Given the description of an element on the screen output the (x, y) to click on. 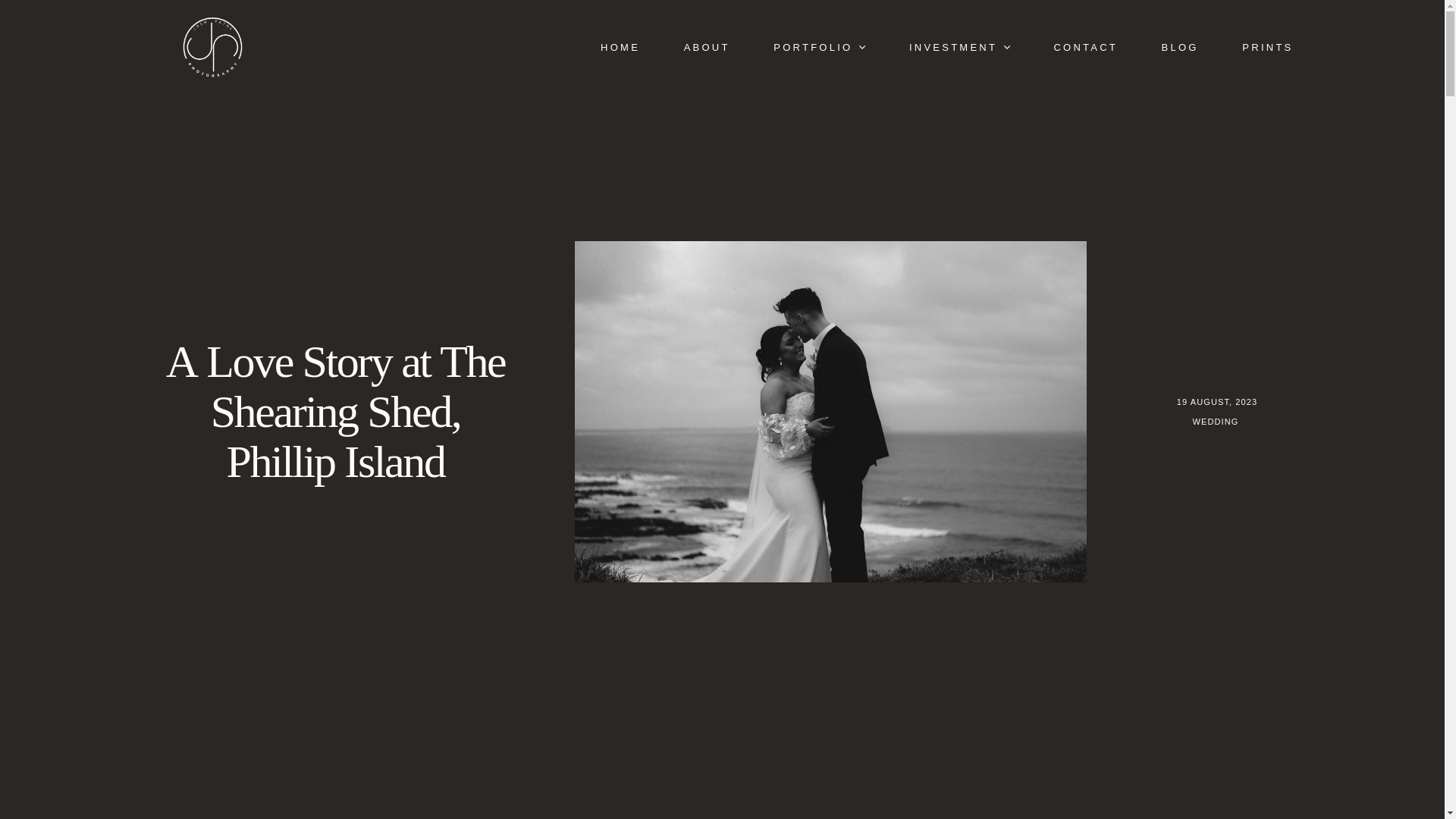
ABOUT (707, 47)
PRINTS (1268, 47)
BLOG (1180, 47)
INVESTMENT (959, 47)
HOME (620, 47)
CONTACT (1086, 47)
PORTFOLIO (818, 47)
WEDDING  (1216, 421)
